Given the description of an element on the screen output the (x, y) to click on. 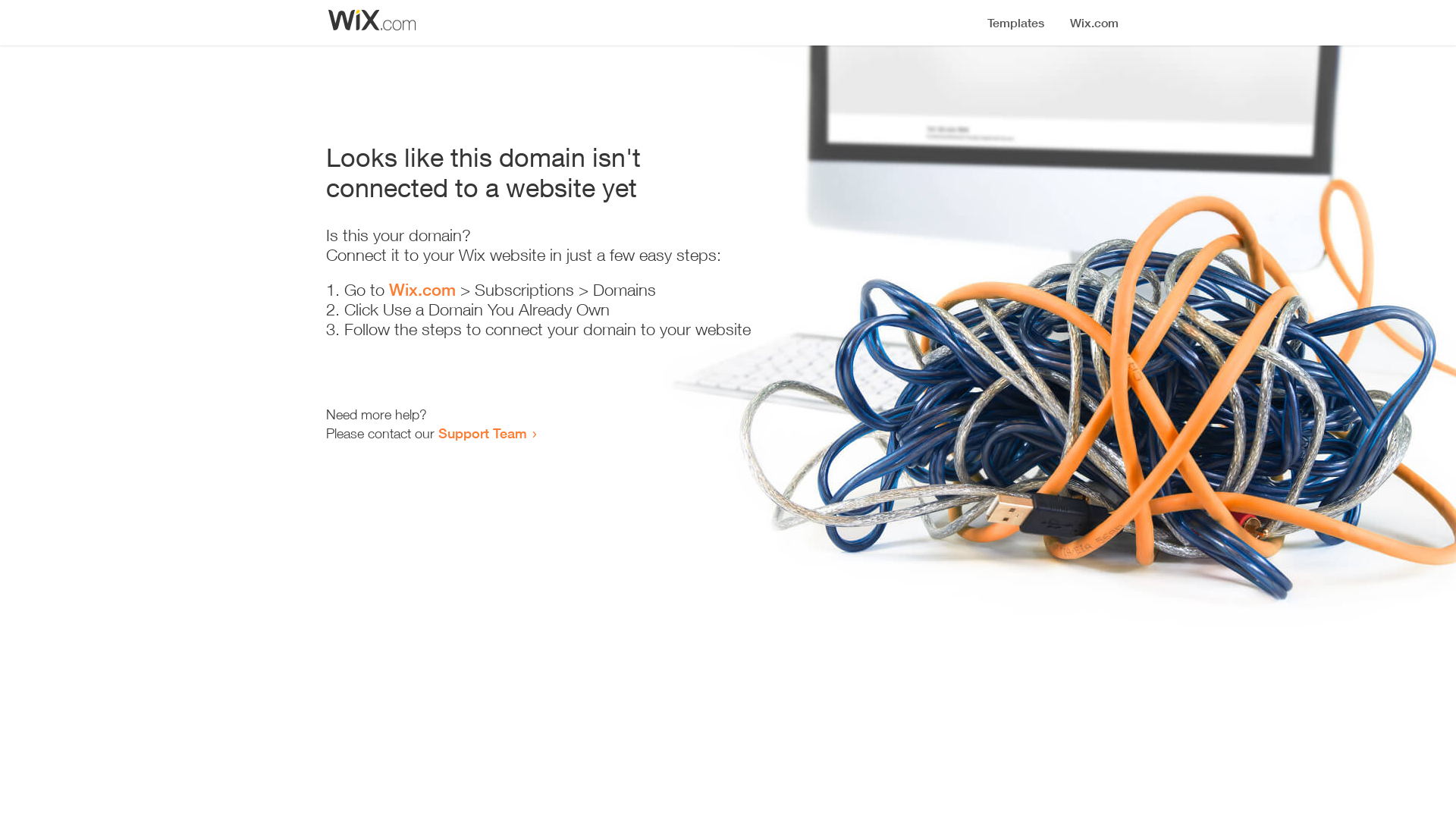
Wix.com Element type: text (422, 289)
Support Team Element type: text (482, 432)
